Given the description of an element on the screen output the (x, y) to click on. 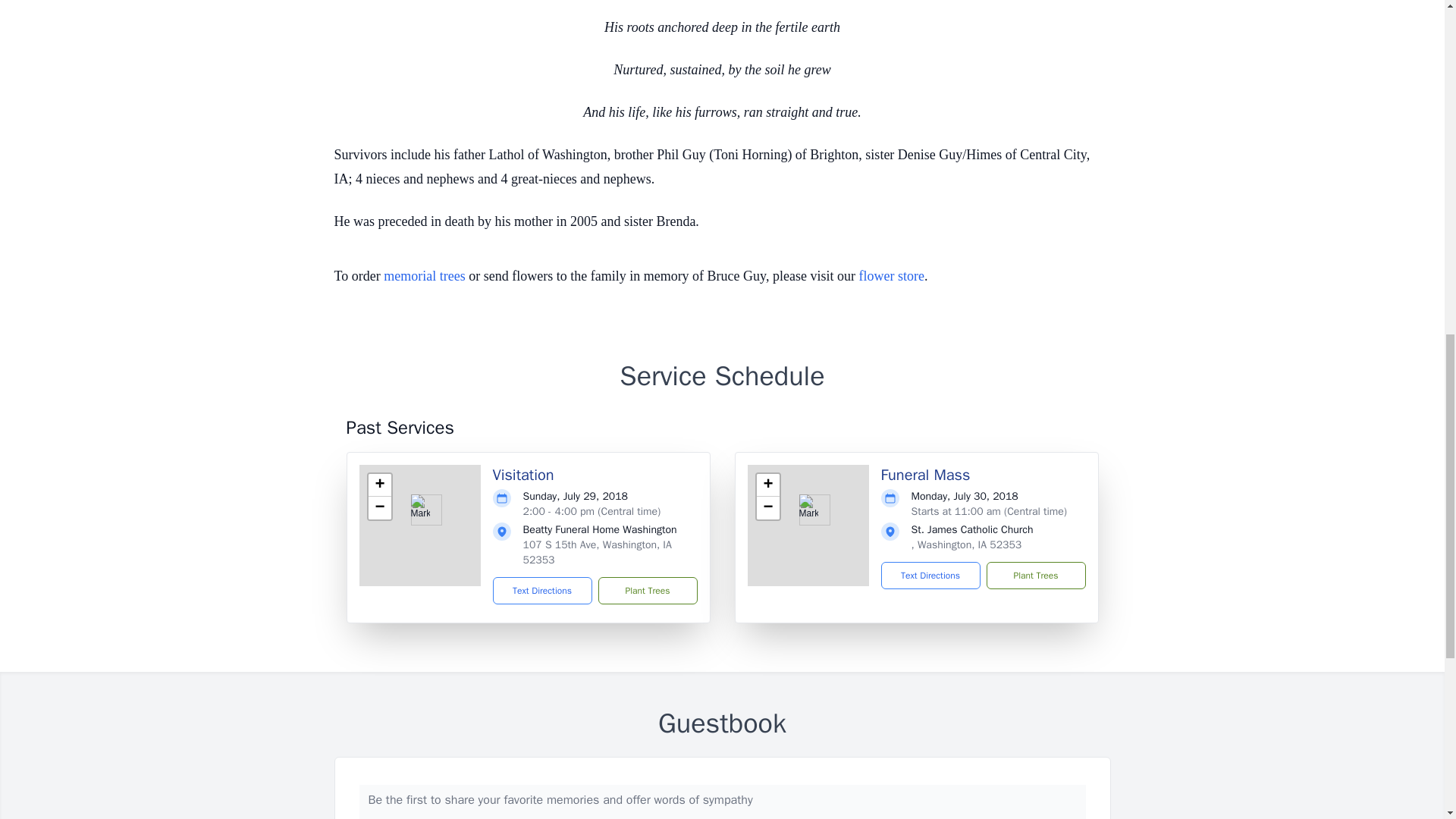
Text Directions (929, 574)
Plant Trees (646, 590)
Zoom out (767, 507)
107 S 15th Ave, Washington, IA 52353 (596, 552)
flower store (891, 275)
Plant Trees (1034, 574)
Zoom out (379, 507)
memorial trees (424, 275)
Zoom in (379, 485)
Zoom in (767, 485)
, Washington, IA 52353 (966, 544)
Text Directions (542, 590)
